Given the description of an element on the screen output the (x, y) to click on. 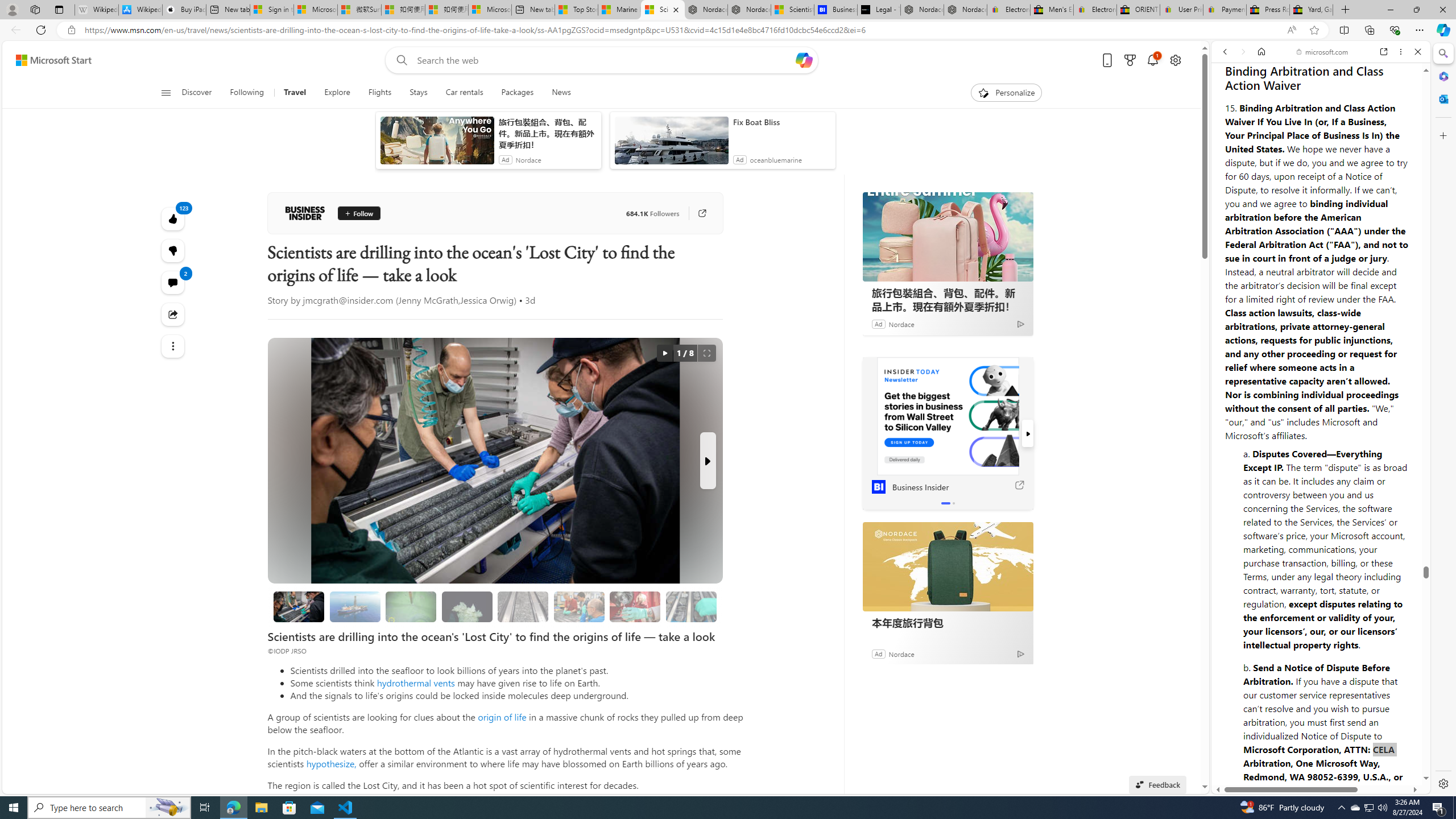
Explore (336, 92)
Business Insider (947, 416)
News (560, 92)
News (556, 92)
Sign in to your Microsoft account (271, 9)
Skip to footer (46, 59)
Side bar (1443, 418)
View comments 2 Comment (172, 282)
